Given the description of an element on the screen output the (x, y) to click on. 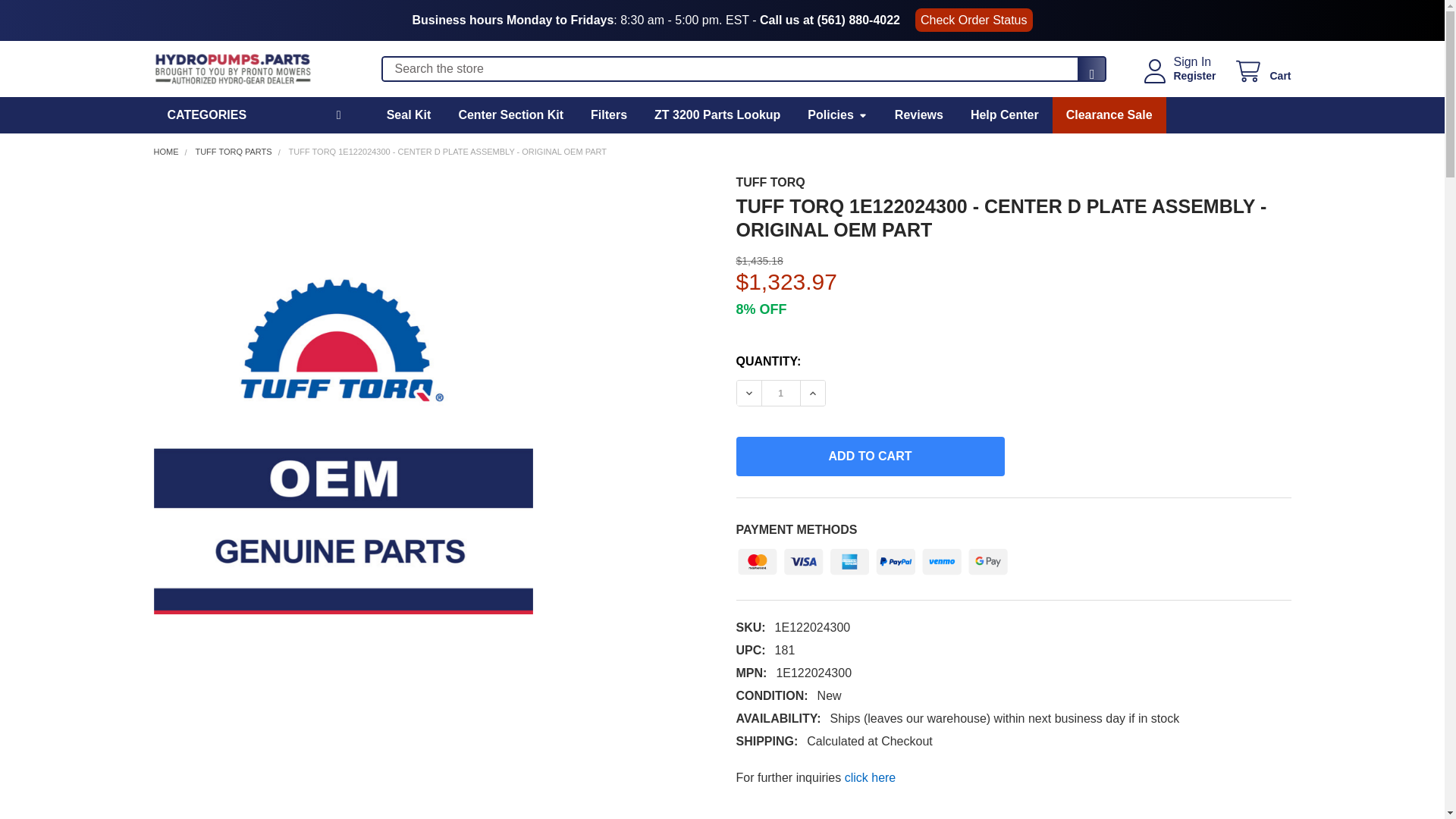
Cart (1261, 71)
Sign In (1192, 61)
Check Order Status (973, 19)
CATEGORIES (255, 115)
Search (1087, 74)
Add to Cart (869, 455)
1 (780, 392)
Search (1087, 74)
Payment Methods (872, 557)
